Given the description of an element on the screen output the (x, y) to click on. 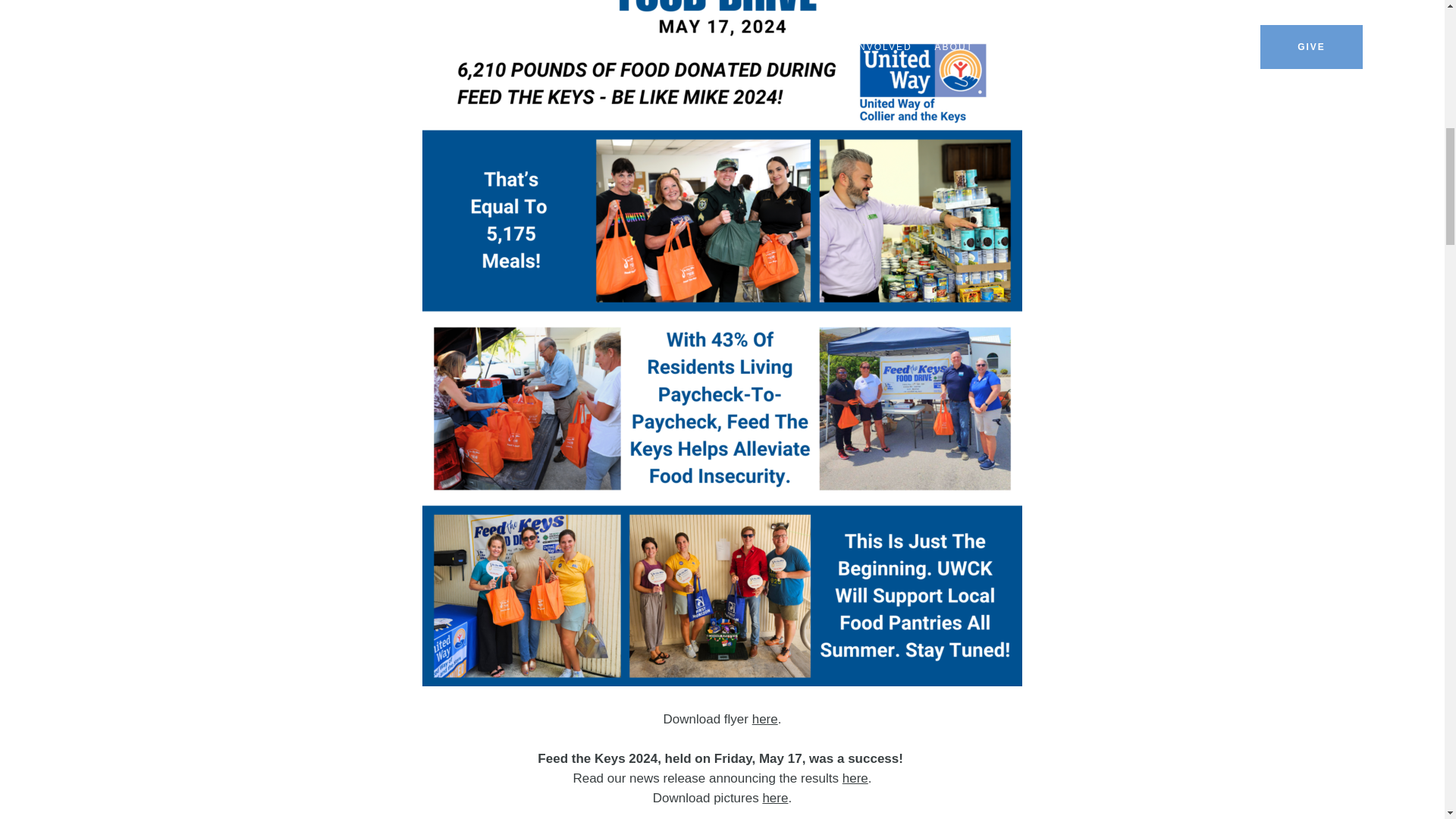
here (855, 778)
here (774, 798)
here (764, 718)
